Given the description of an element on the screen output the (x, y) to click on. 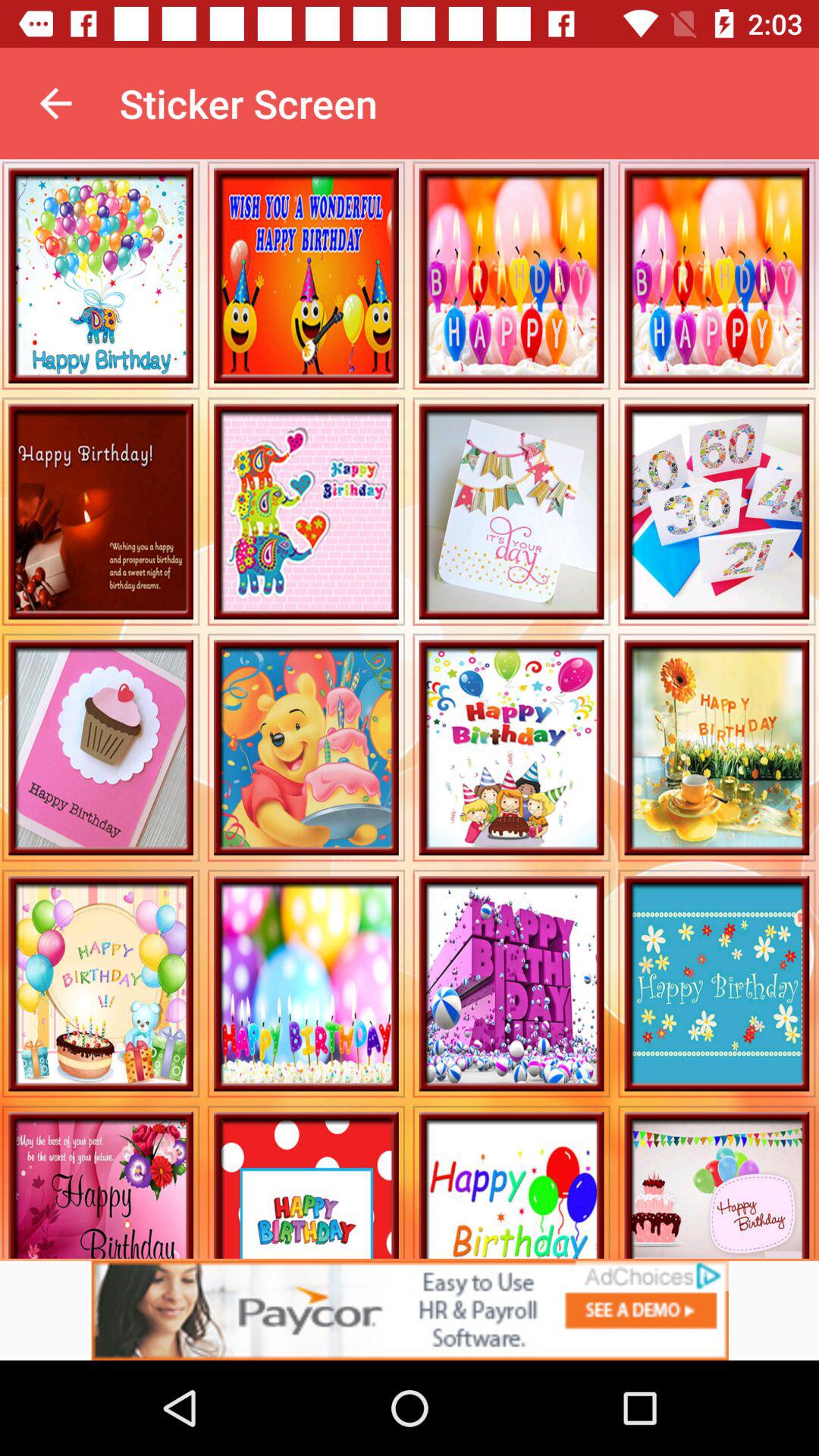
add banner (409, 1310)
